Given the description of an element on the screen output the (x, y) to click on. 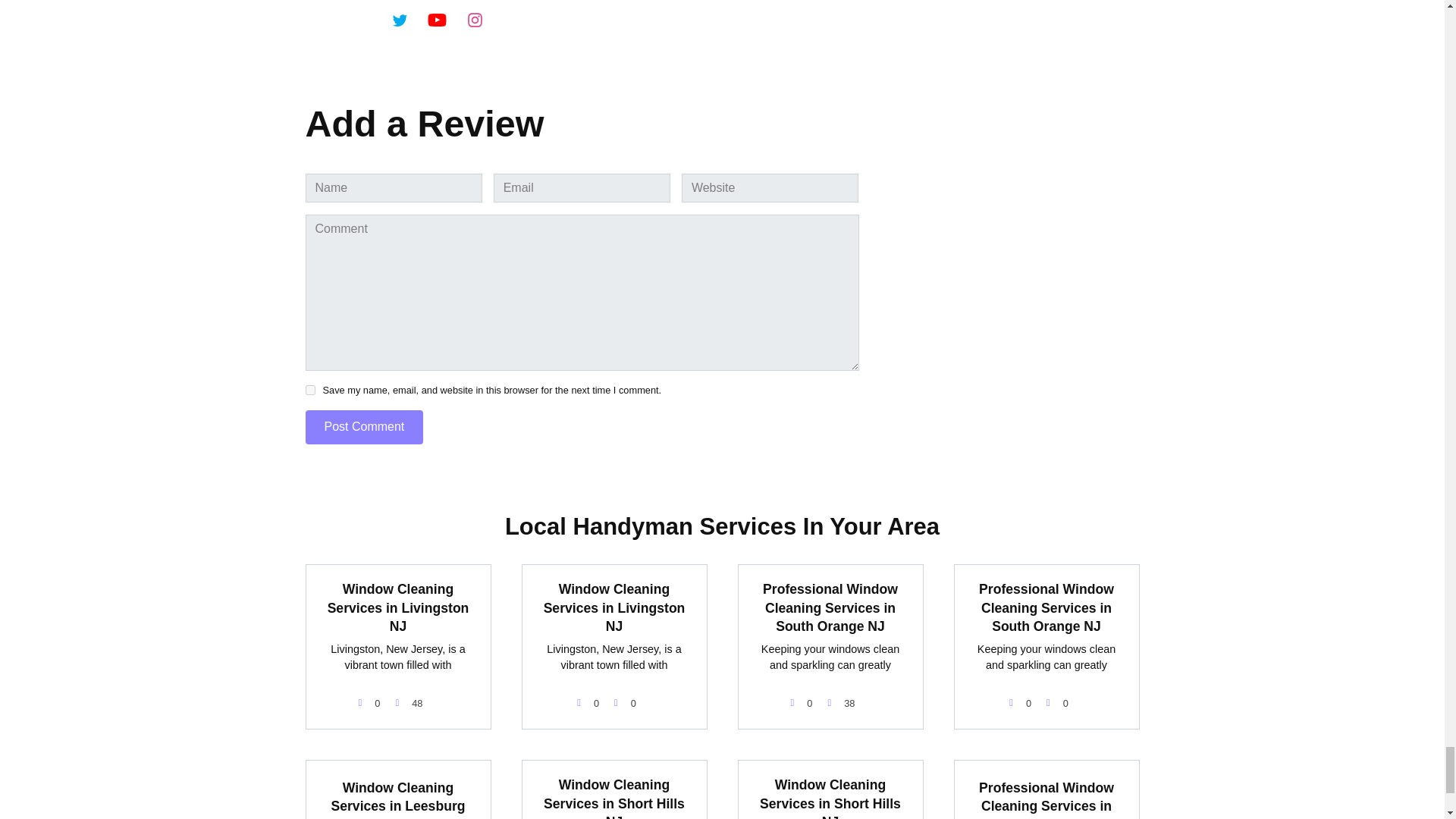
yes (309, 389)
Post Comment (363, 427)
